Given the description of an element on the screen output the (x, y) to click on. 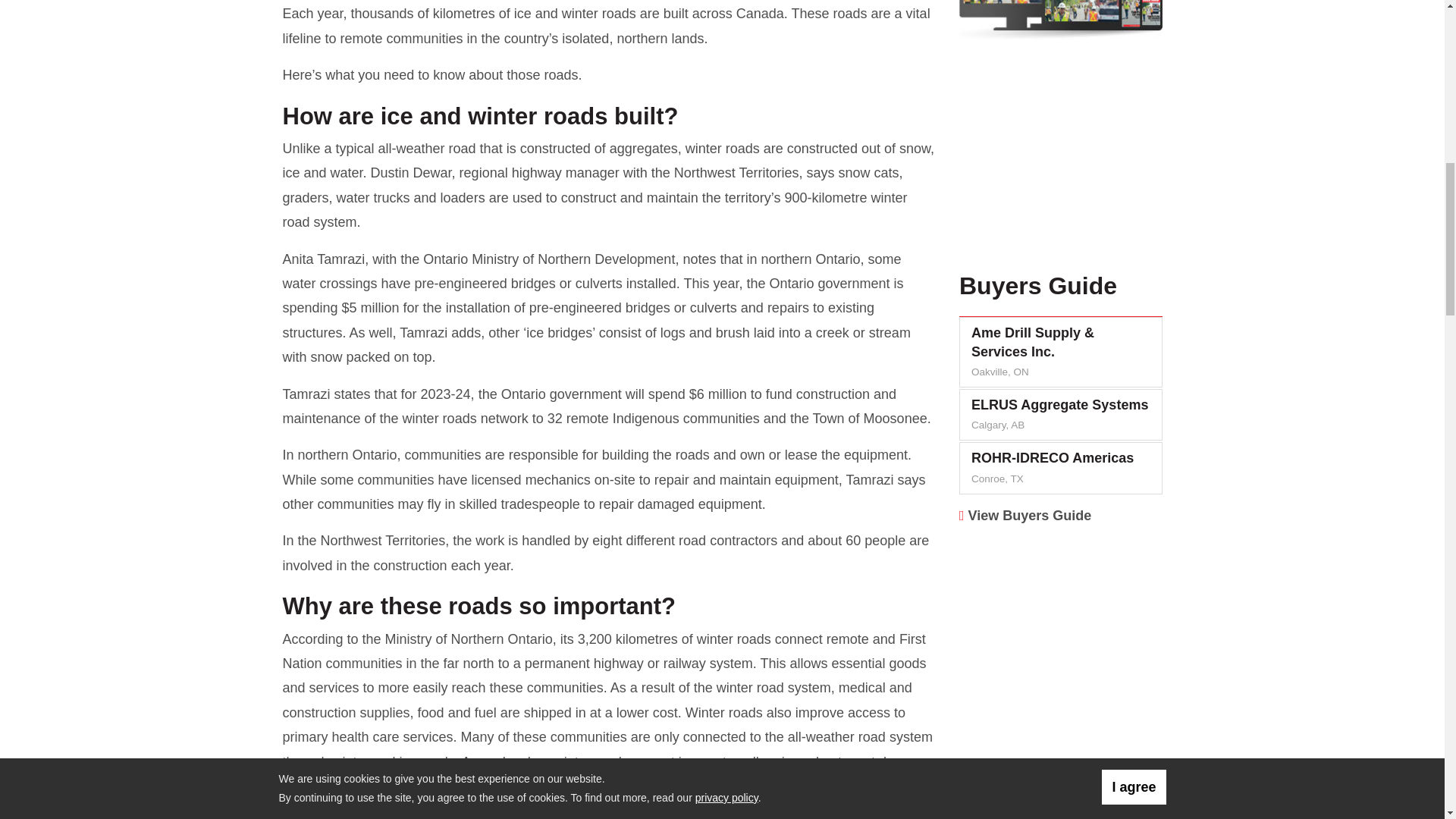
3rd party ad content (1060, 162)
